Given the description of an element on the screen output the (x, y) to click on. 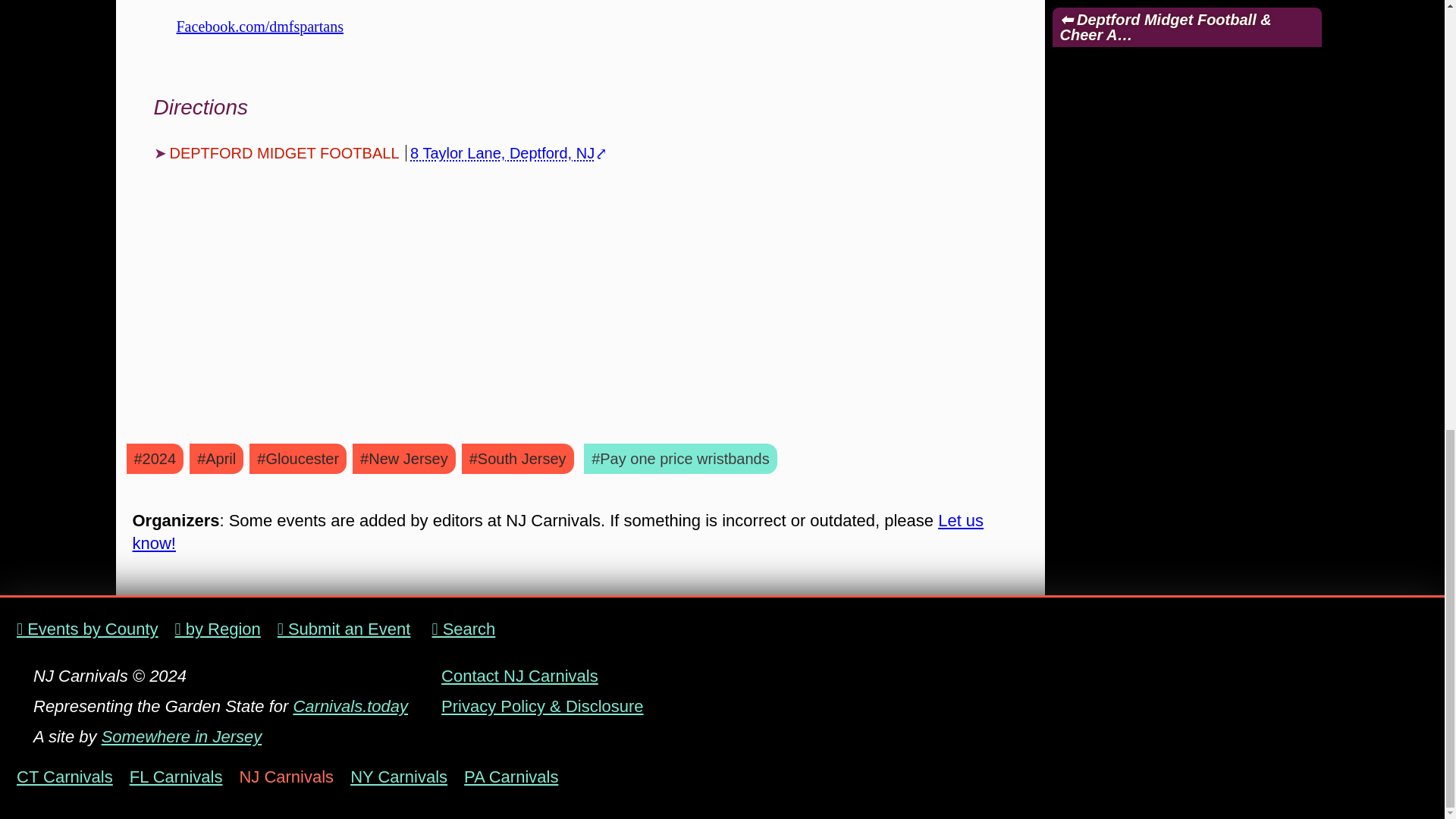
8 Taylor Lane, Deptford, NJ (502, 152)
Carnivals.today (349, 705)
Somewhere in Jersey (181, 736)
Contact NJ Carnivals (519, 675)
Let us know! (558, 531)
